Given the description of an element on the screen output the (x, y) to click on. 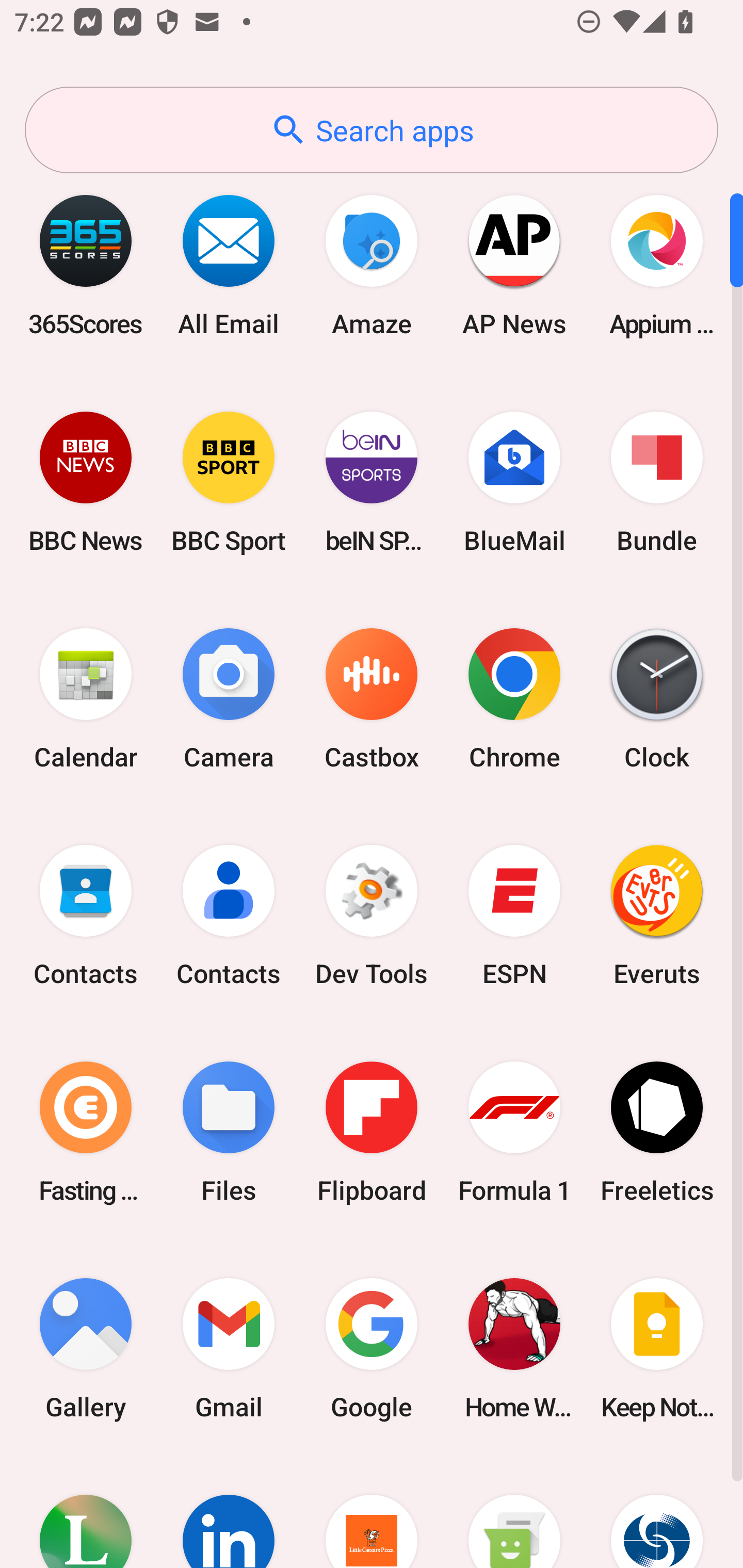
  Search apps (371, 130)
365Scores (85, 264)
All Email (228, 264)
Amaze (371, 264)
AP News (514, 264)
Appium Settings (656, 264)
BBC News (85, 482)
BBC Sport (228, 482)
beIN SPORTS (371, 482)
BlueMail (514, 482)
Bundle (656, 482)
Calendar (85, 699)
Camera (228, 699)
Castbox (371, 699)
Chrome (514, 699)
Clock (656, 699)
Contacts (85, 915)
Contacts (228, 915)
Dev Tools (371, 915)
ESPN (514, 915)
Everuts (656, 915)
Fasting Coach (85, 1131)
Files (228, 1131)
Flipboard (371, 1131)
Formula 1 (514, 1131)
Freeletics (656, 1131)
Gallery (85, 1348)
Gmail (228, 1348)
Google (371, 1348)
Home Workout (514, 1348)
Keep Notes (656, 1348)
